Given the description of an element on the screen output the (x, y) to click on. 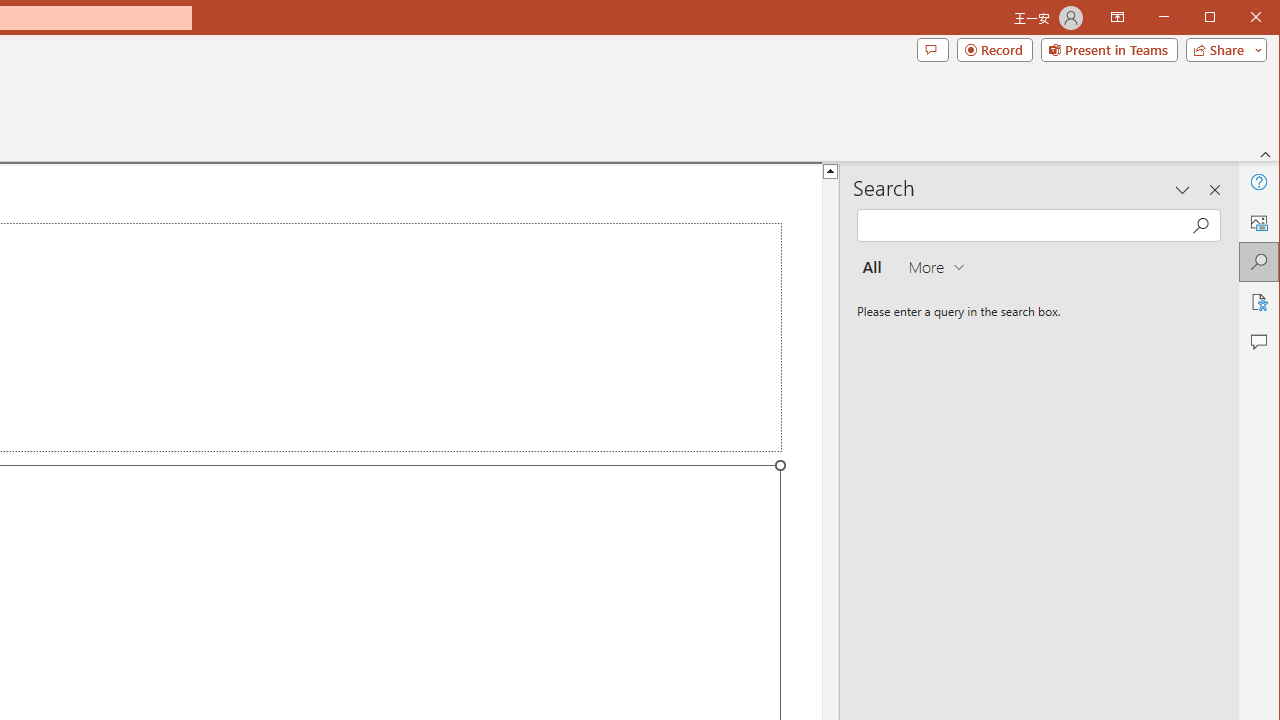
Comments (1258, 341)
Share (1222, 49)
Maximize (1238, 18)
Task Pane Options (1183, 189)
Search (1258, 261)
Collapse the Ribbon (1266, 154)
Minimize (1216, 18)
Comments (932, 49)
Help (1258, 182)
Ribbon Display Options (1117, 17)
Line up (829, 170)
Alt Text (1258, 221)
Close pane (1215, 189)
Accessibility (1258, 301)
Close (1261, 18)
